Given the description of an element on the screen output the (x, y) to click on. 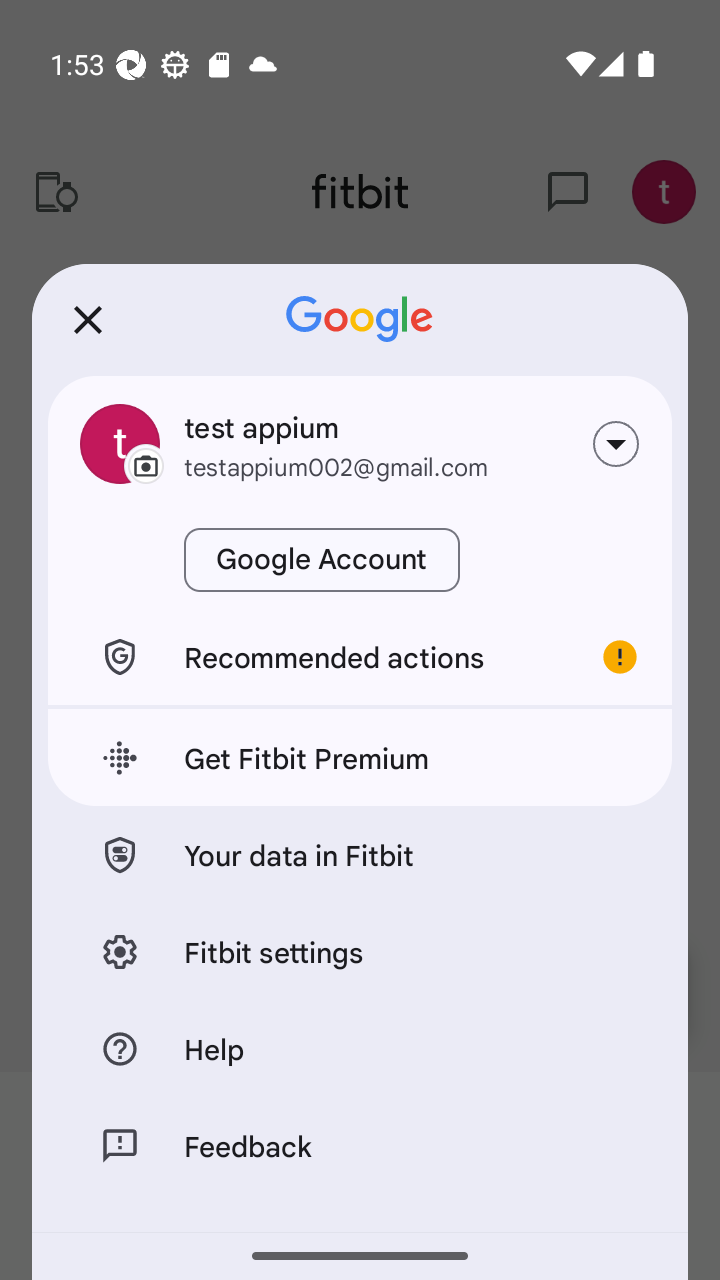
Close (87, 319)
Change profile picture. (119, 443)
Google Account (322, 560)
Recommended actions Important account alert (359, 656)
Get Fitbit Premium (359, 757)
Your data in Fitbit (360, 854)
Fitbit settings (360, 950)
Help (360, 1047)
Feedback (360, 1145)
